Given the description of an element on the screen output the (x, y) to click on. 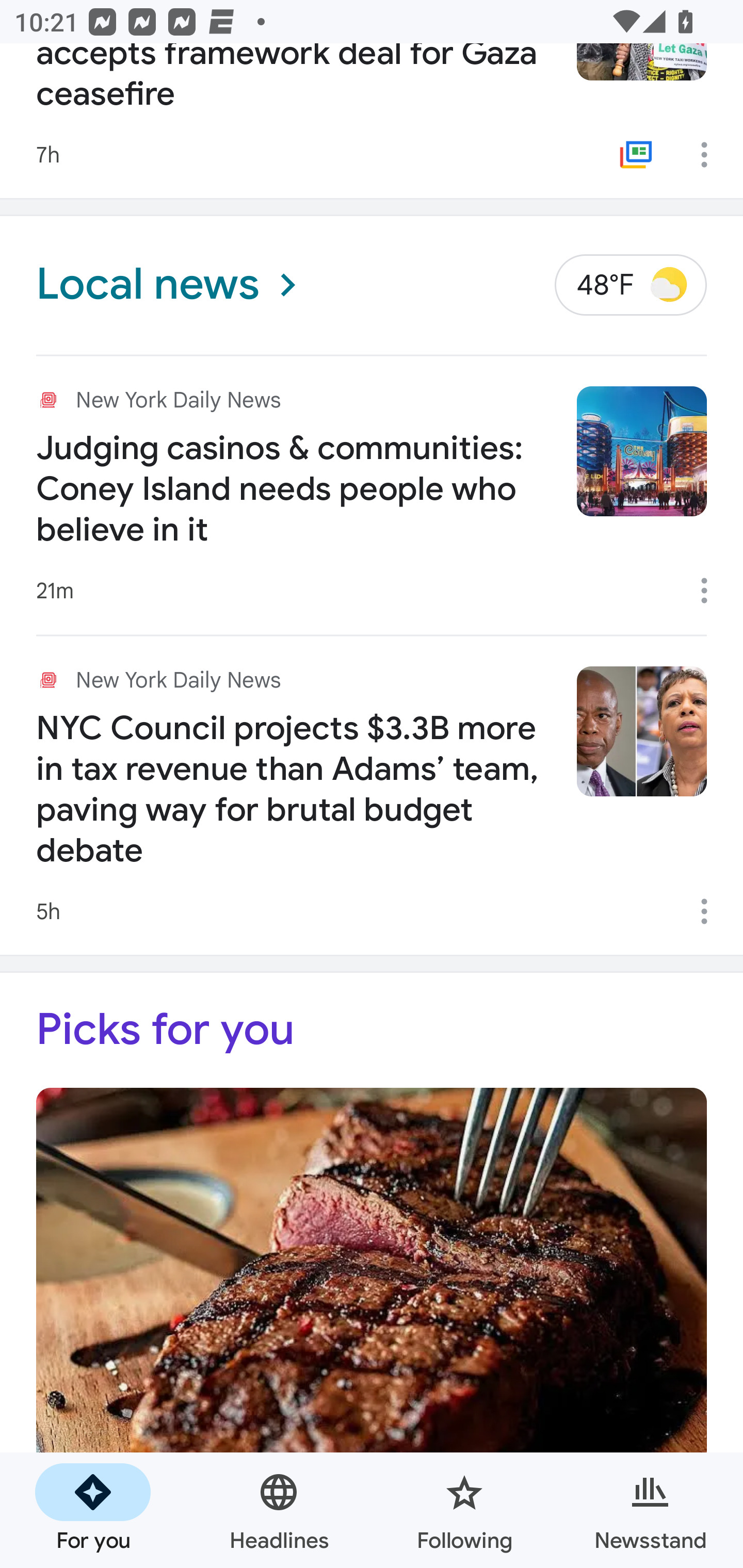
More options (711, 154)
More options (711, 590)
More options (711, 911)
For you (92, 1509)
Headlines (278, 1509)
Following (464, 1509)
Newsstand (650, 1509)
